Given the description of an element on the screen output the (x, y) to click on. 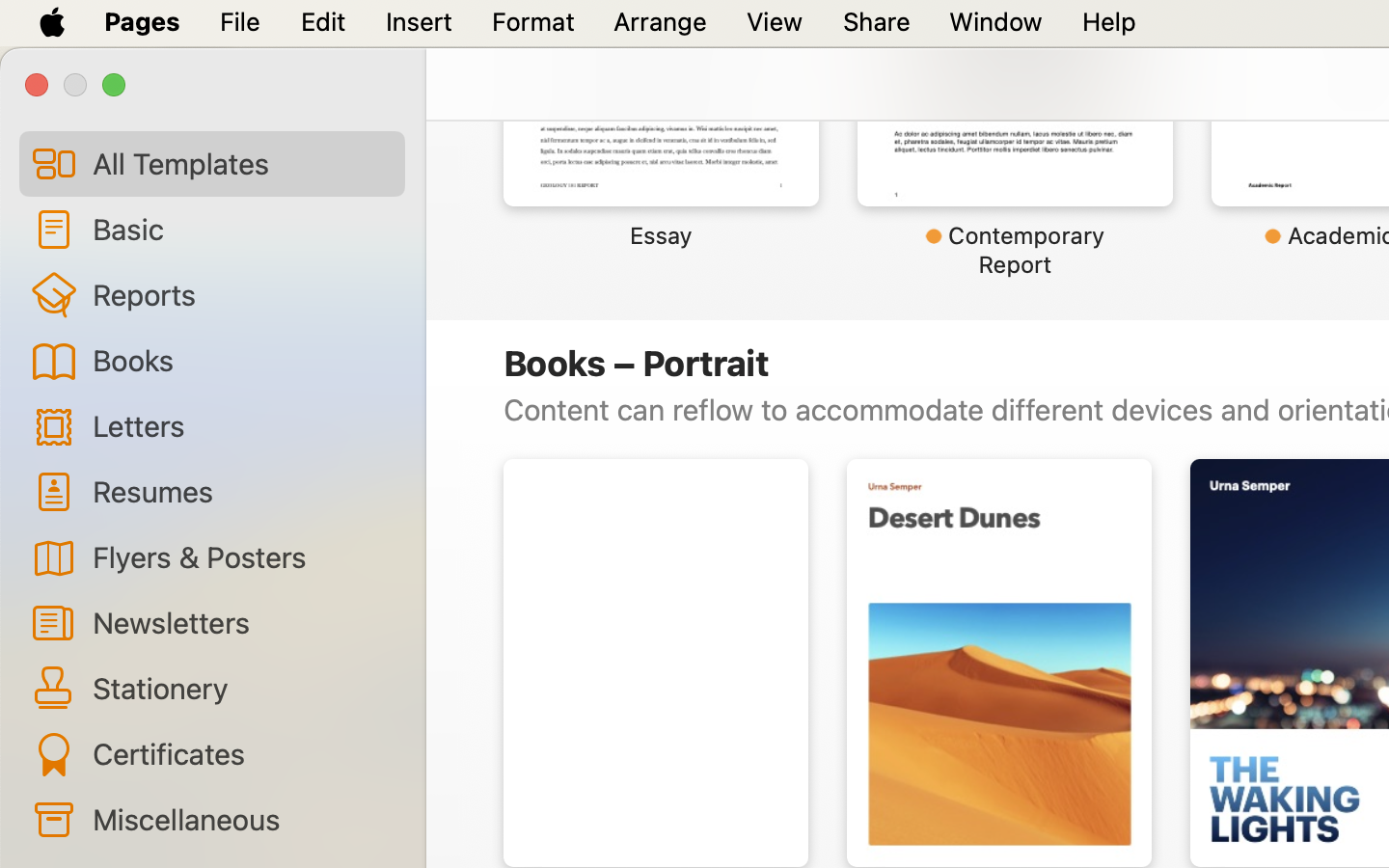
Certificates Element type: AXStaticText (240, 752)
